Given the description of an element on the screen output the (x, y) to click on. 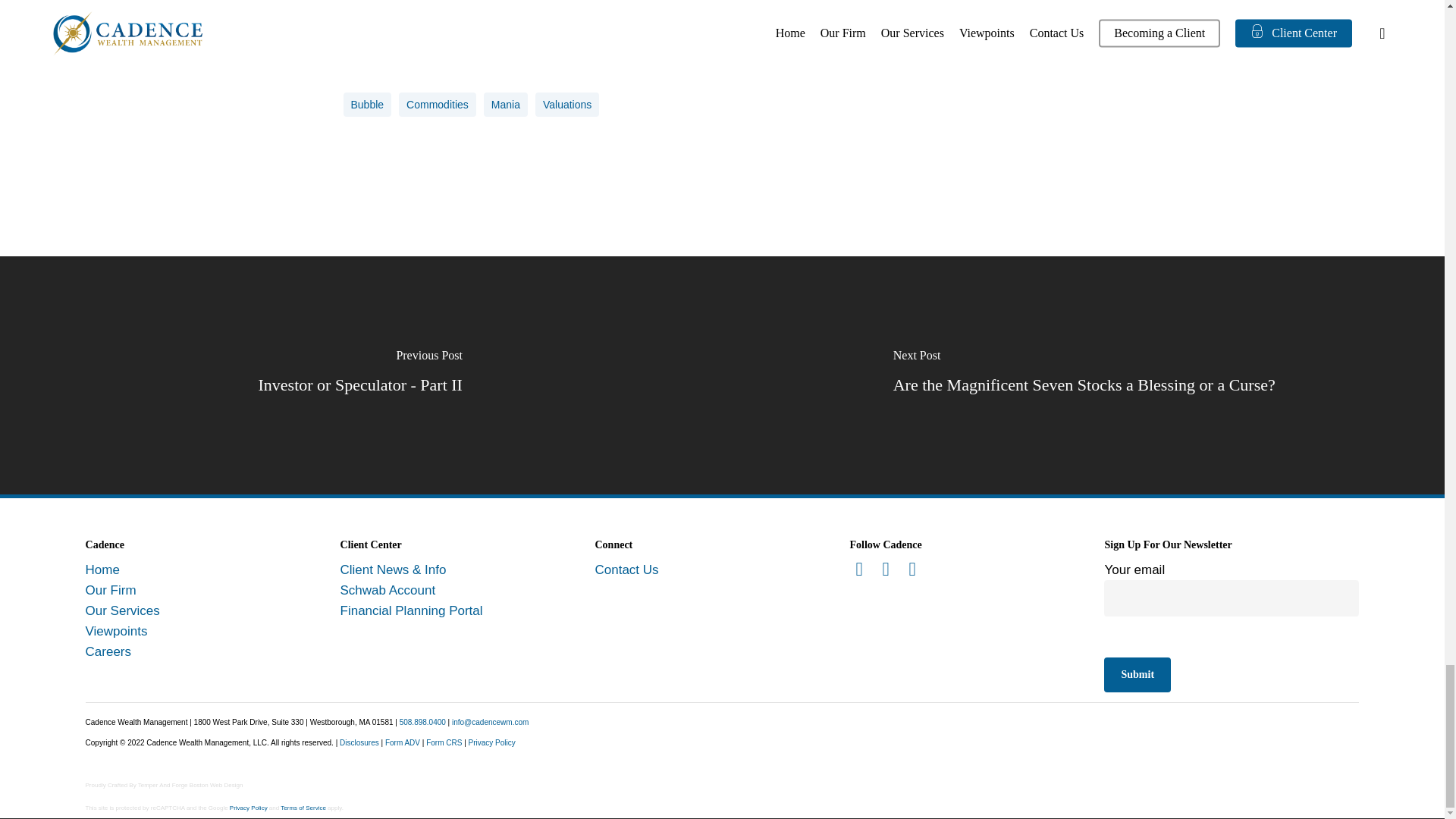
Viewpoints (116, 631)
Bubble (366, 104)
Our Firm (110, 590)
Mania (505, 104)
Valuations (566, 104)
Home (102, 569)
Careers (108, 651)
Schwab Account (387, 590)
Our Services (122, 610)
Submit (1136, 674)
Commodities (437, 104)
